Given the description of an element on the screen output the (x, y) to click on. 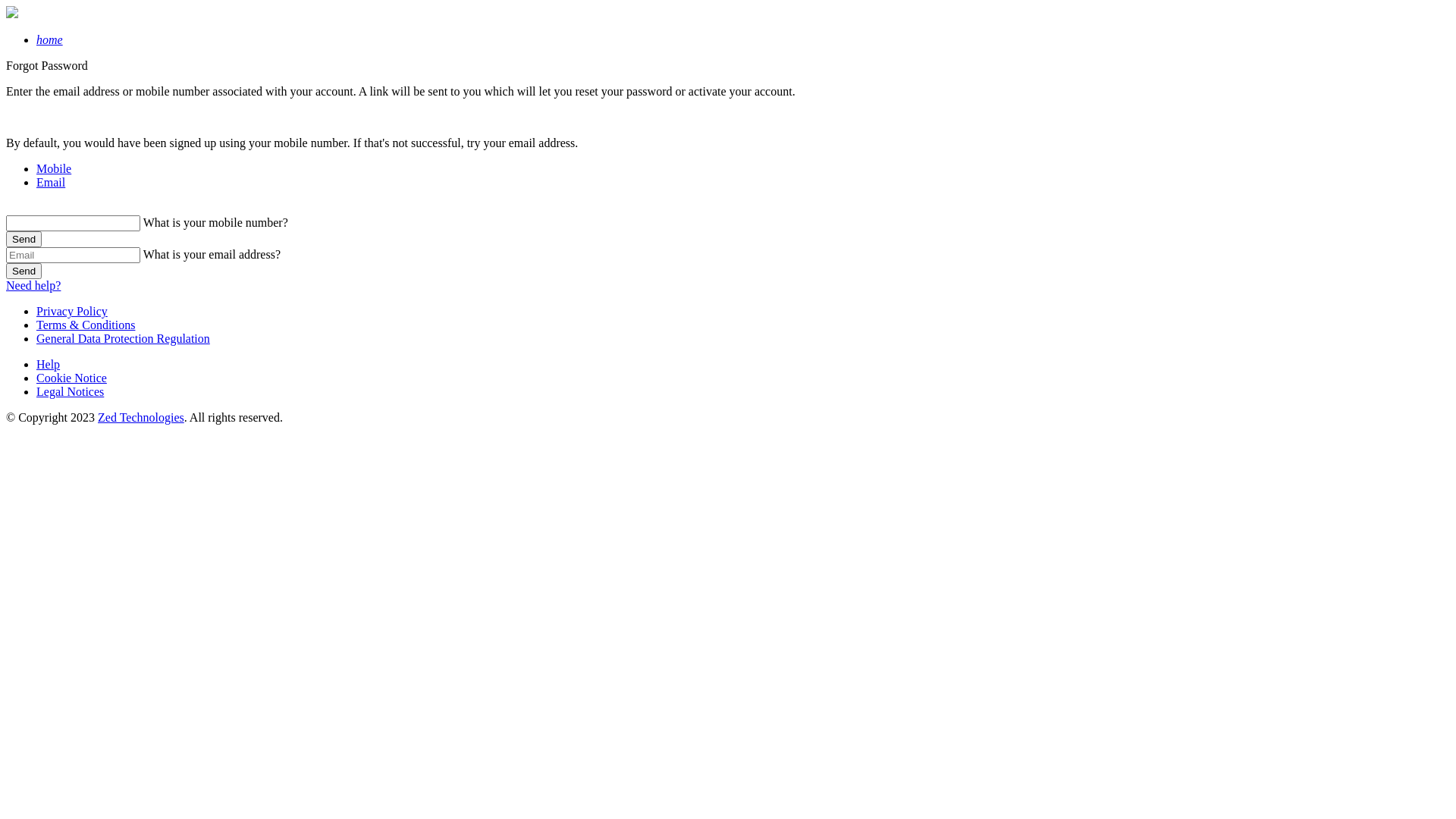
Legal Notices Element type: text (69, 391)
Mobile Element type: text (53, 168)
Send Element type: text (23, 239)
Cookie Notice Element type: text (71, 377)
General Data Protection Regulation Element type: text (123, 338)
Help Element type: text (47, 363)
Privacy Policy Element type: text (71, 310)
Email Element type: text (50, 181)
Need help? Element type: text (33, 285)
Zed Technologies Element type: text (140, 417)
Send Element type: text (23, 271)
Terms & Conditions Element type: text (85, 324)
home Element type: text (49, 39)
